Given the description of an element on the screen output the (x, y) to click on. 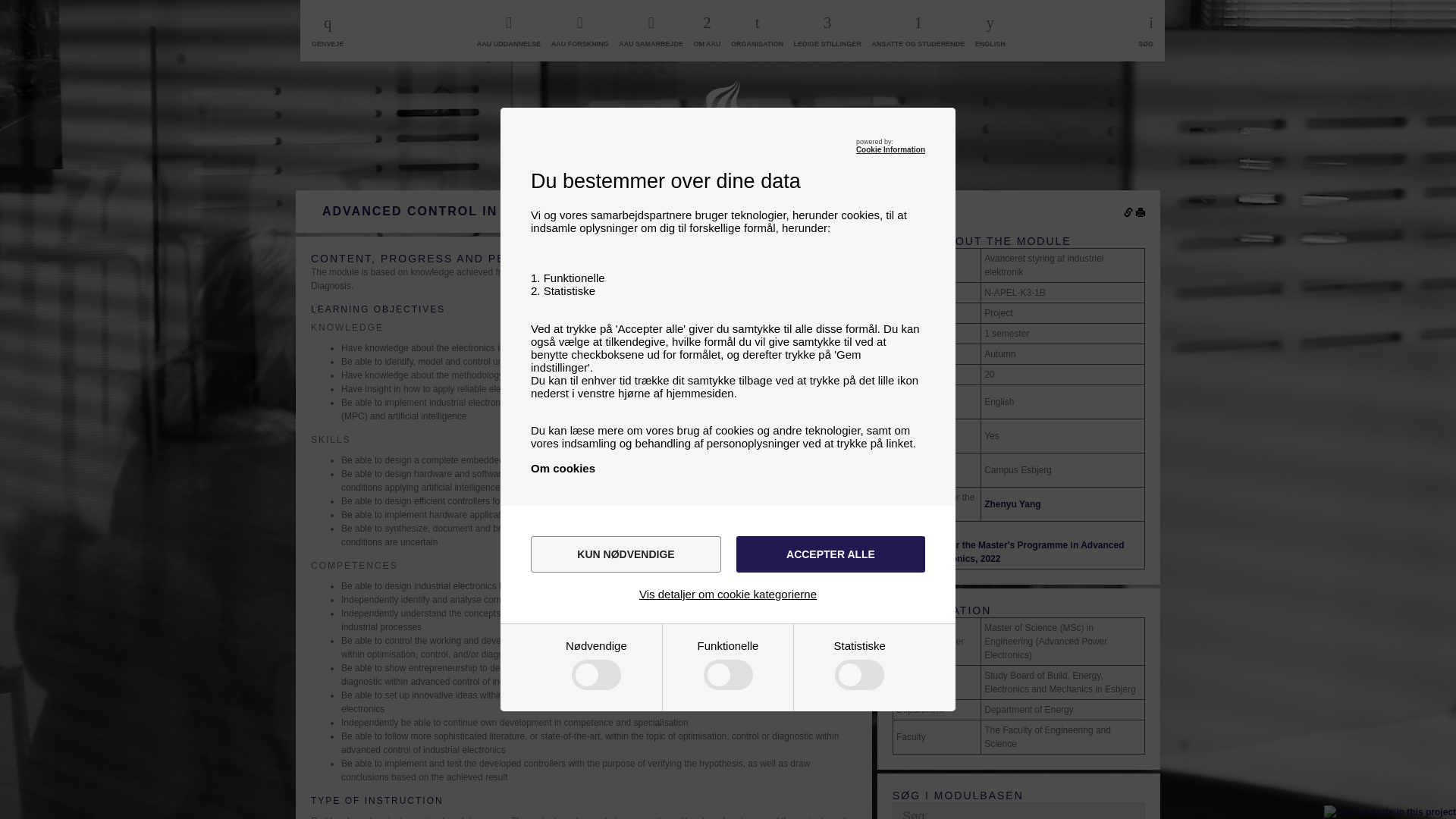
Om cookies (563, 468)
Vis detaljer om cookie kategorierne (727, 594)
FUNKTIONELLE (579, 742)
ACCEPTER ALLE (830, 554)
Cookie Information (890, 149)
